Given the description of an element on the screen output the (x, y) to click on. 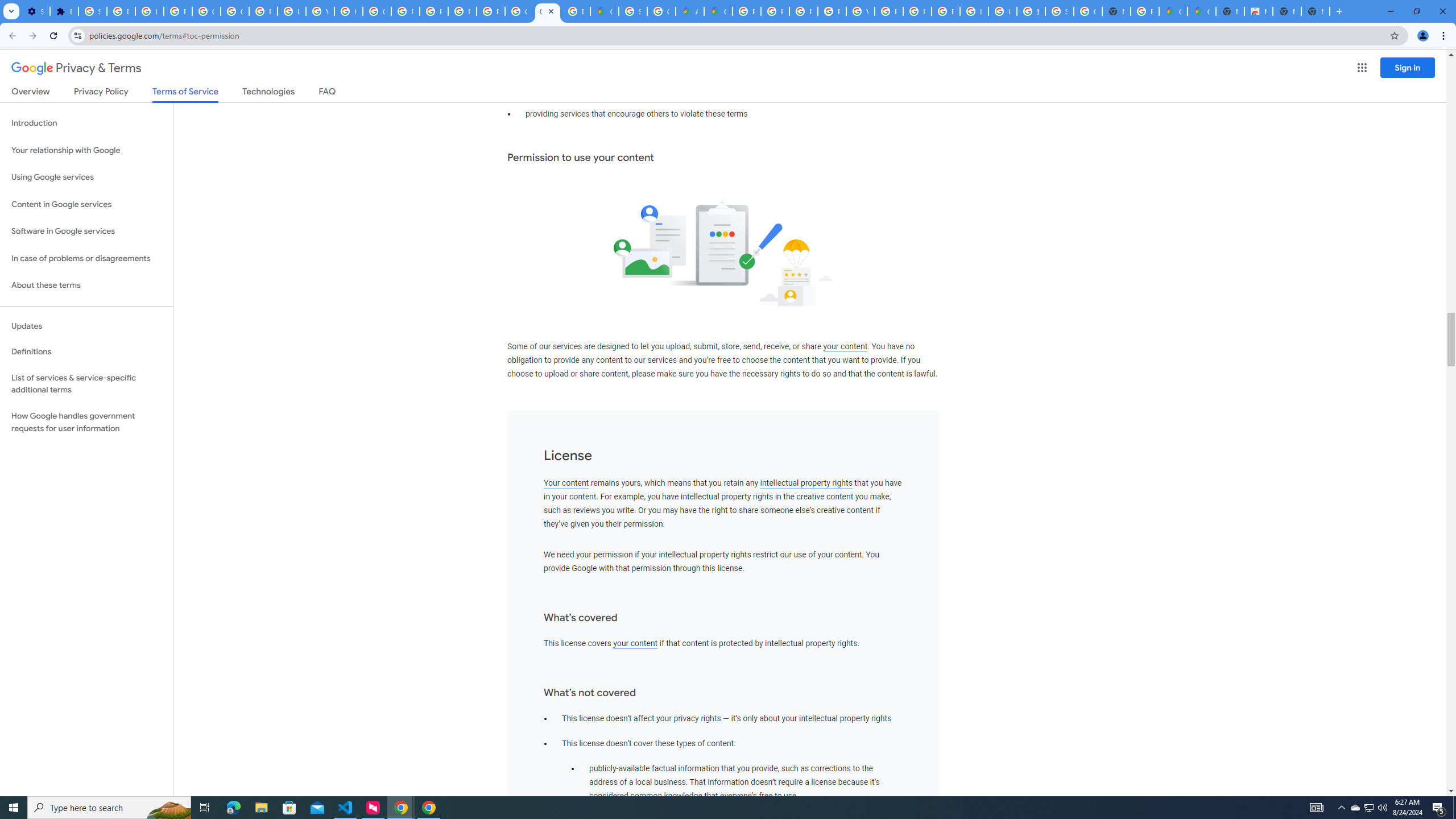
Software in Google services (86, 230)
Sign in - Google Accounts (92, 11)
New Tab (1230, 11)
Extensions (63, 11)
Google Maps (604, 11)
How Google handles government requests for user information (86, 422)
Terms of Service (184, 94)
Privacy Help Center - Policies Help (803, 11)
Privacy Help Center - Policies Help (774, 11)
Sign in - Google Accounts (632, 11)
Privacy & Terms (76, 68)
YouTube (860, 11)
